Given the description of an element on the screen output the (x, y) to click on. 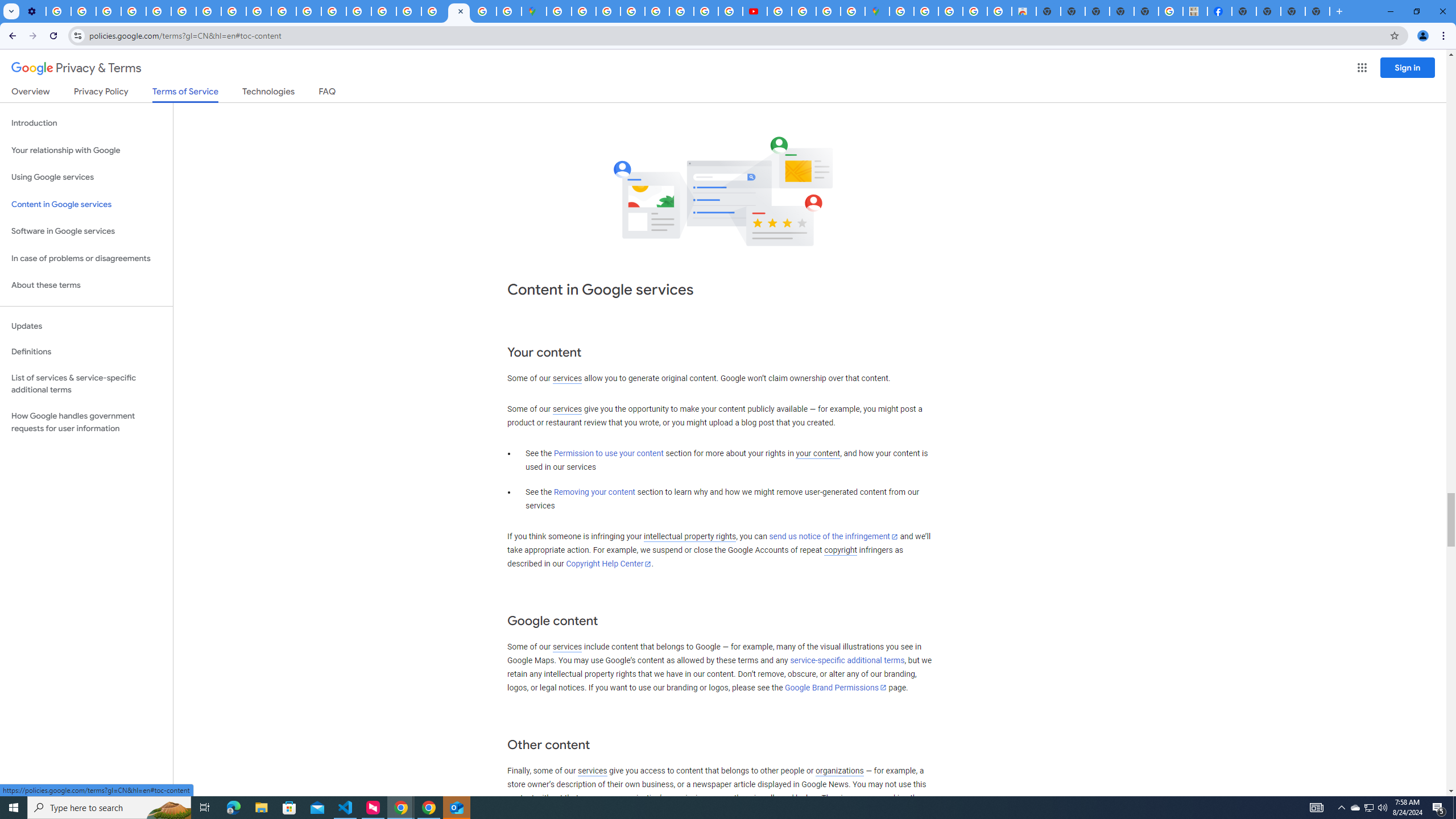
Privacy Checkup (258, 11)
Google Maps (876, 11)
Settings - Customize profile (33, 11)
Privacy Help Center - Policies Help (158, 11)
New Tab (1317, 11)
Software in Google services (86, 230)
send us notice of the infringement (833, 536)
Permission to use your content (608, 453)
Google Maps (533, 11)
